Given the description of an element on the screen output the (x, y) to click on. 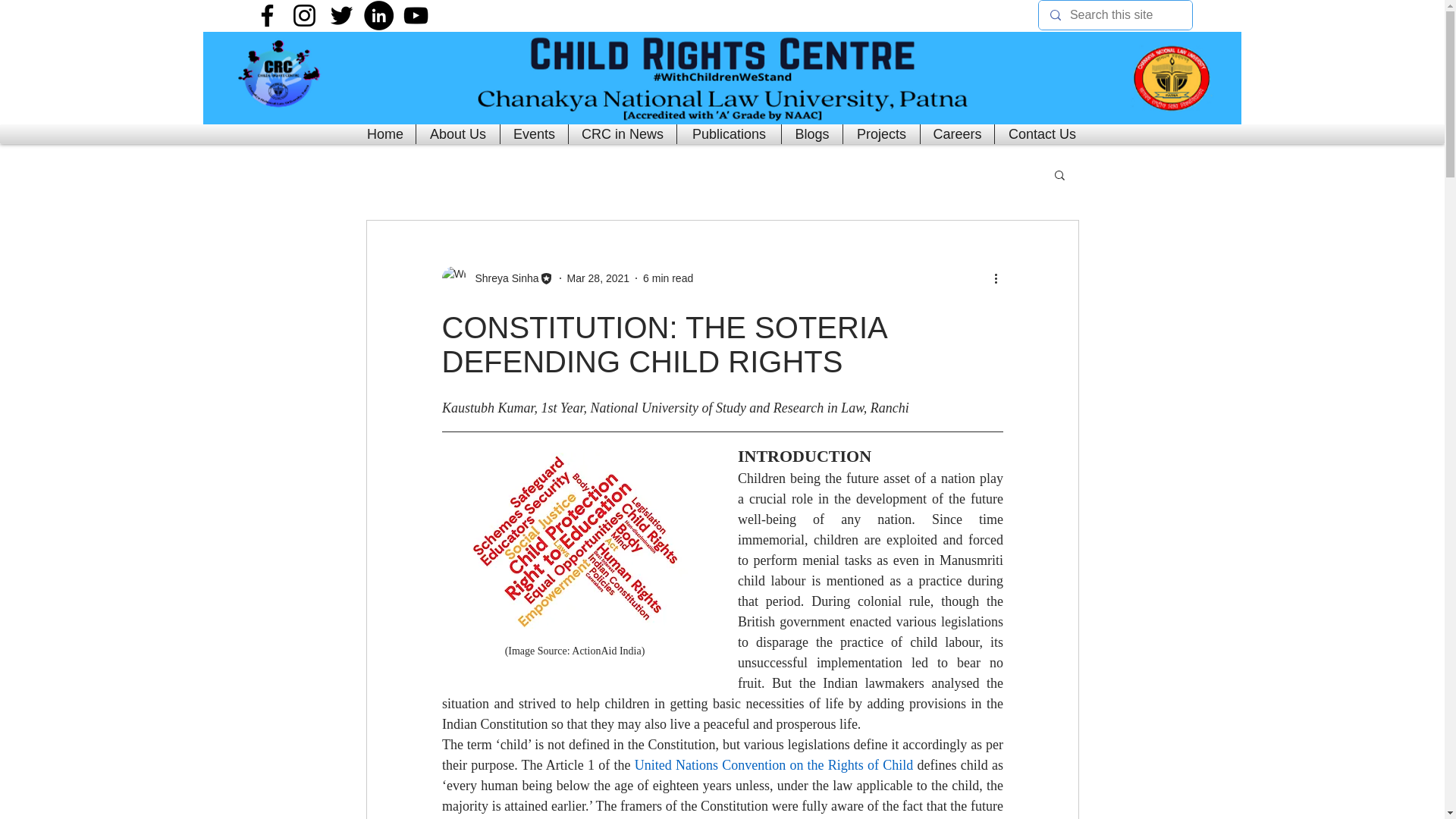
Events (533, 134)
Publications (729, 134)
Careers (957, 134)
CRC in News (622, 134)
Contact Us (1042, 134)
Shreya Sinha (501, 277)
United Nations Convention on the Rights of Child (772, 765)
6 min read (668, 277)
Child Rights Centre, CNLU Patna (722, 77)
Home (385, 134)
Mar 28, 2021 (598, 277)
